Given the description of an element on the screen output the (x, y) to click on. 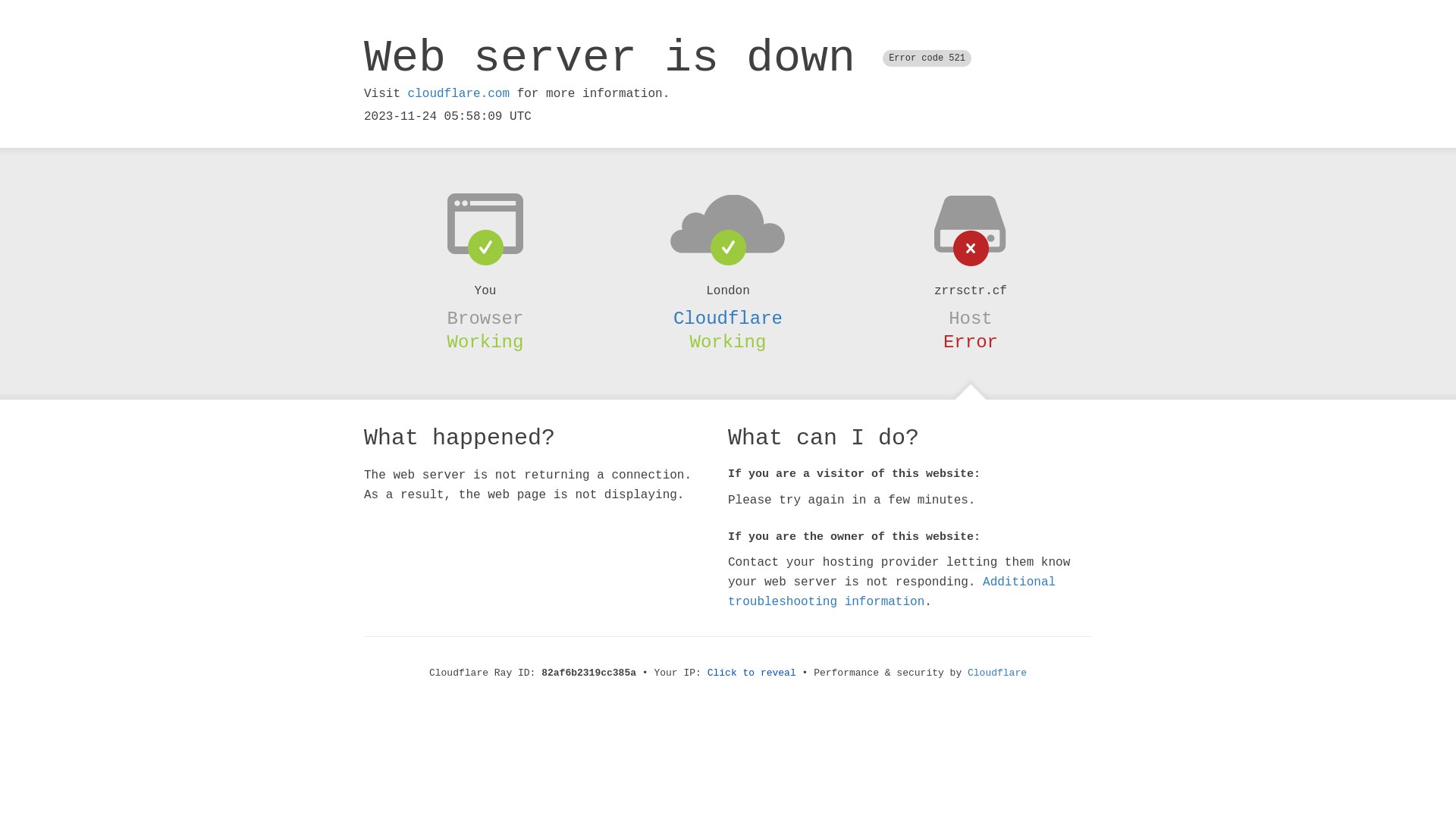
Cloudflare Element type: text (996, 672)
Additional troubleshooting information Element type: text (891, 591)
cloudflare.com Element type: text (458, 93)
Cloudflare Element type: text (727, 318)
Click to reveal Element type: text (751, 672)
